Given the description of an element on the screen output the (x, y) to click on. 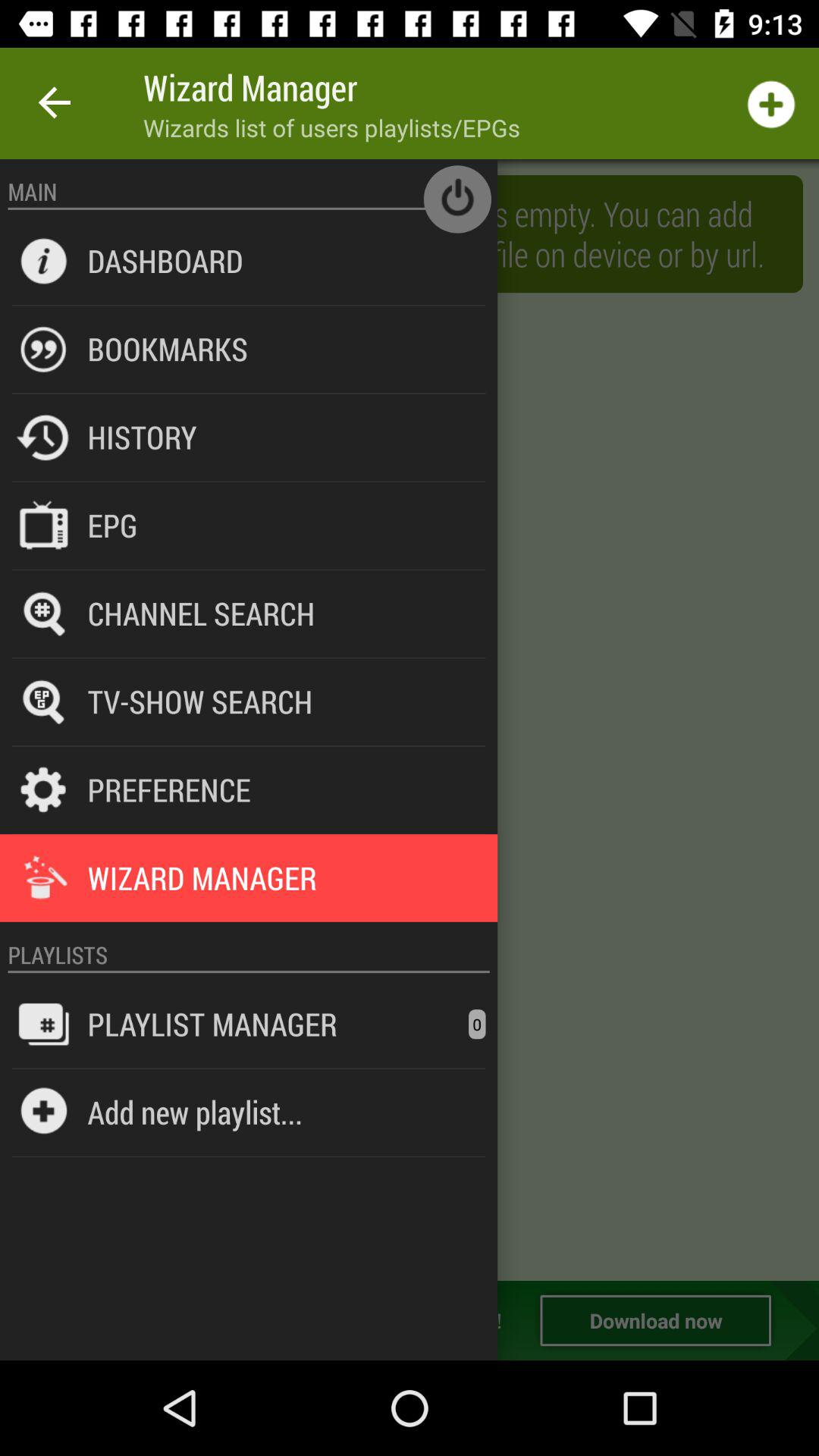
swipe to the download now icon (655, 1320)
